Given the description of an element on the screen output the (x, y) to click on. 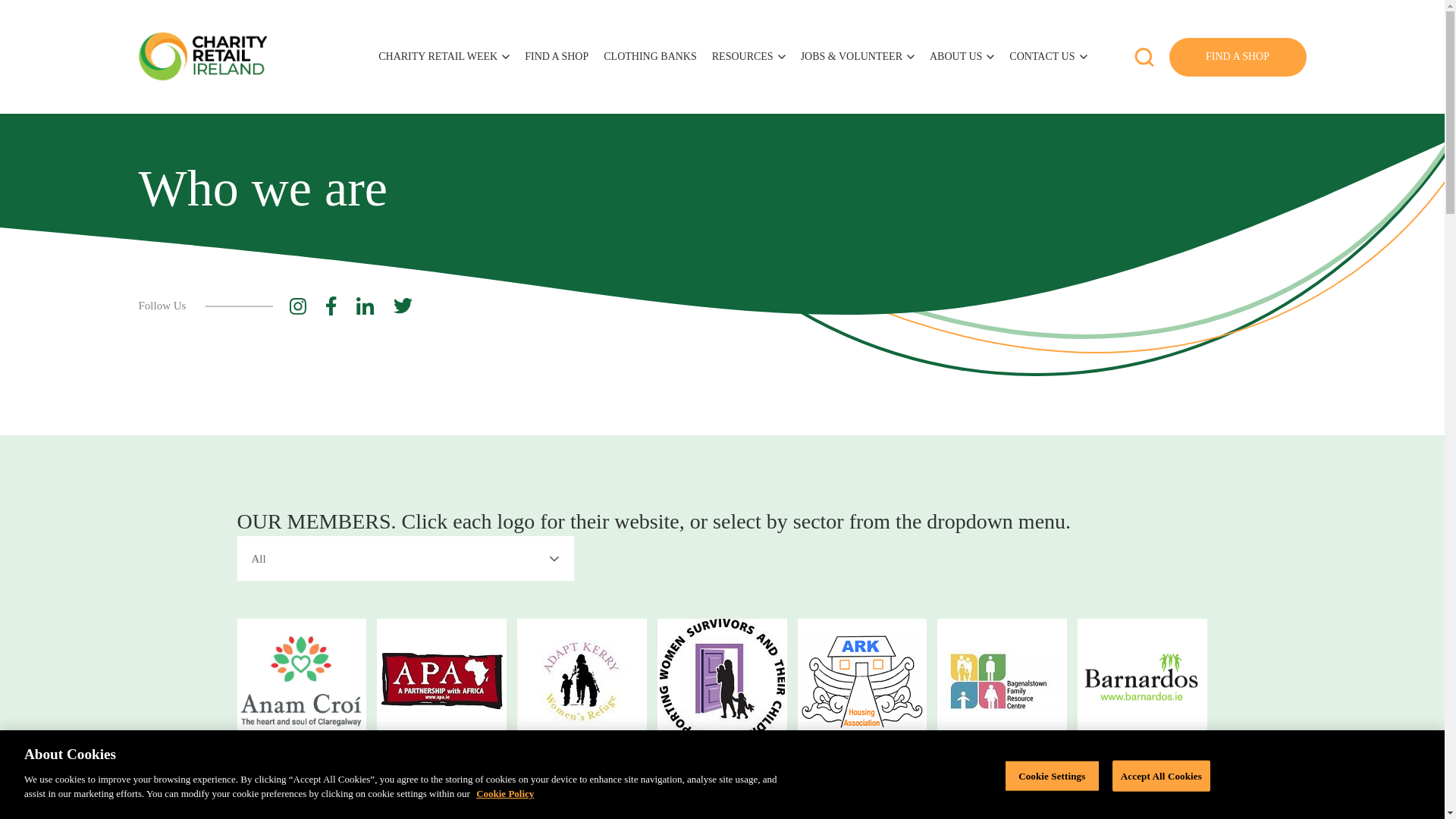
FIND A SHOP (1237, 56)
CHARITY RETAIL WEEK (443, 56)
